Given the description of an element on the screen output the (x, y) to click on. 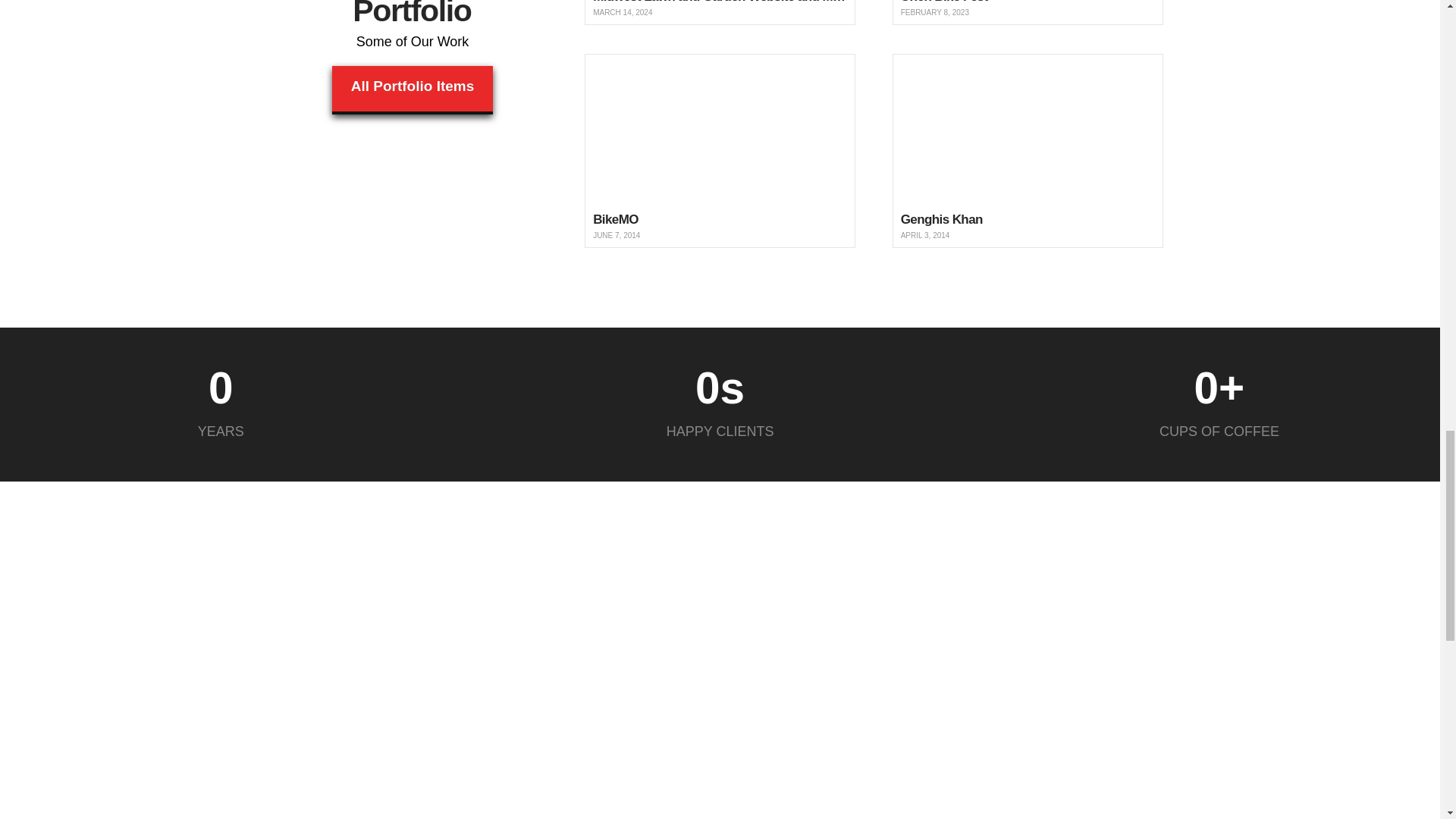
All Portfolio Items (412, 90)
Permalink to: "Genghis Khan" (1027, 150)
Permalink to: "Urich Bike Fest" (1027, 12)
Permalink to: "BikeMO" (720, 150)
